Given the description of an element on the screen output the (x, y) to click on. 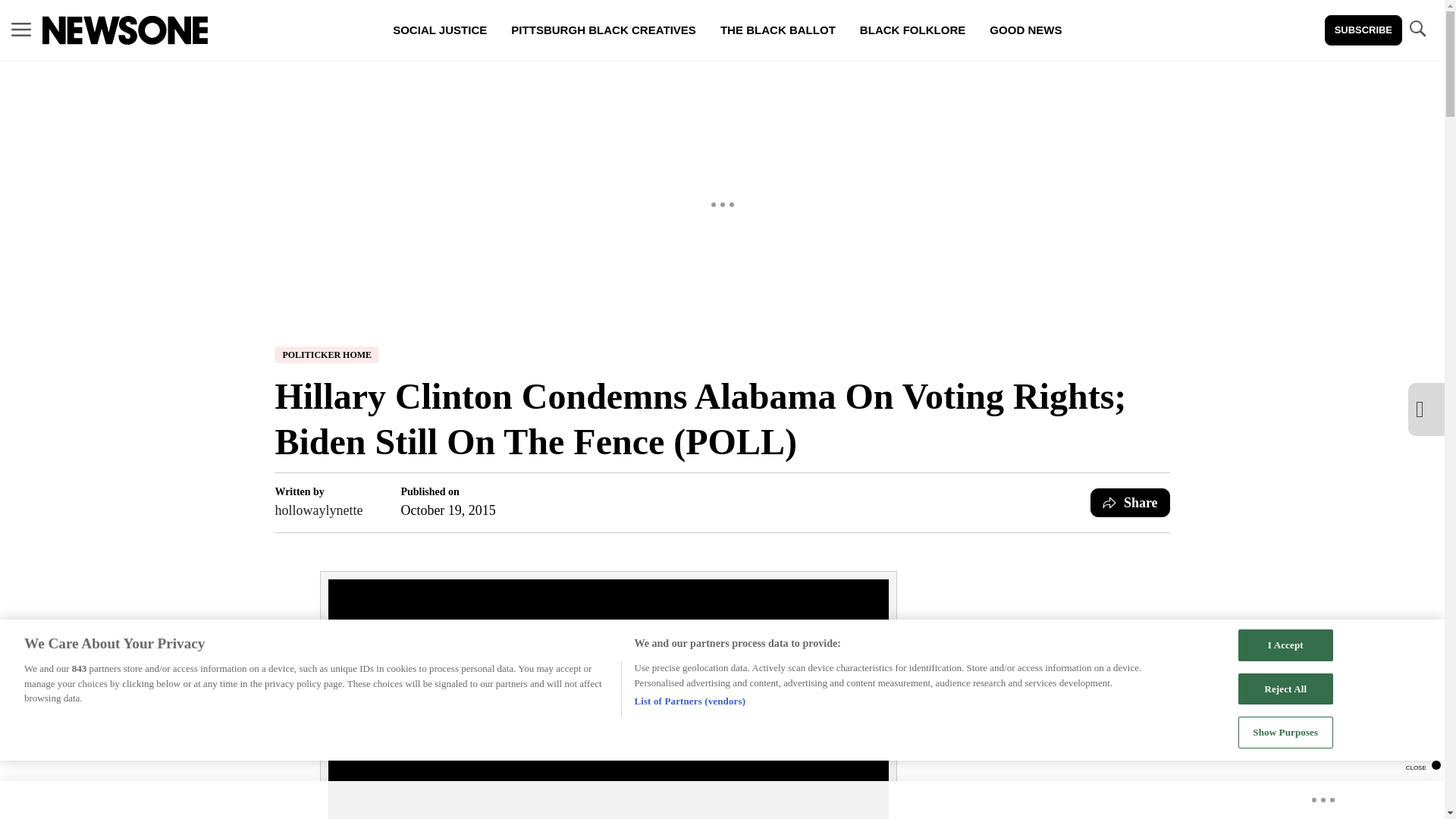
MENU (20, 29)
GOOD NEWS (1025, 30)
hollowaylynette (318, 509)
TOGGLE SEARCH (1417, 28)
SUBSCRIBE (1363, 30)
Share (1130, 502)
MENU (20, 30)
SOCIAL JUSTICE (439, 30)
TOGGLE SEARCH (1417, 30)
BLACK FOLKLORE (911, 30)
POLITICKER HOME (326, 354)
THE BLACK BALLOT (777, 30)
PITTSBURGH BLACK CREATIVES (603, 30)
